Given the description of an element on the screen output the (x, y) to click on. 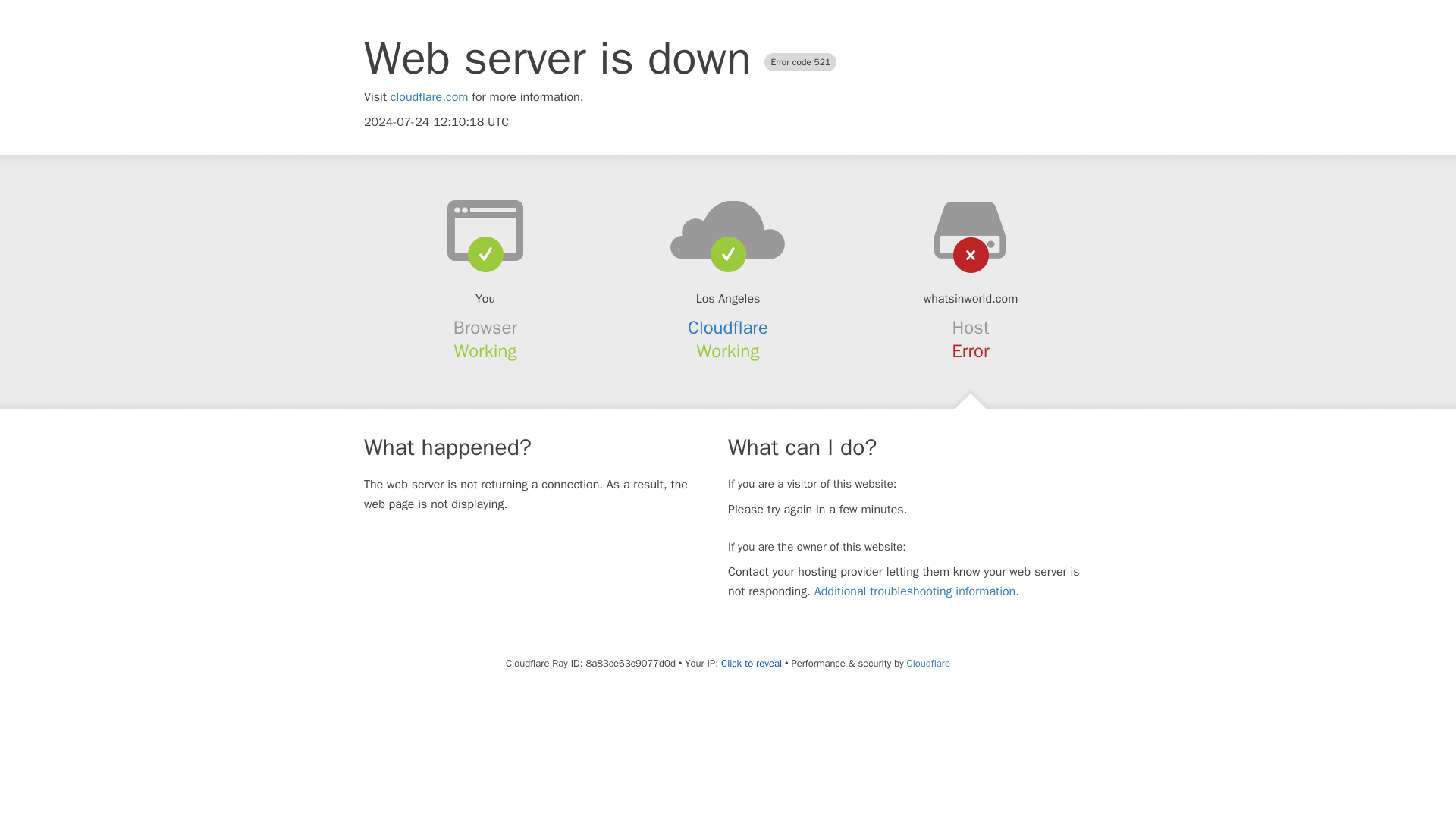
Additional troubleshooting information (913, 590)
cloudflare.com (429, 96)
Cloudflare (727, 327)
Click to reveal (750, 663)
Cloudflare (928, 662)
